Given the description of an element on the screen output the (x, y) to click on. 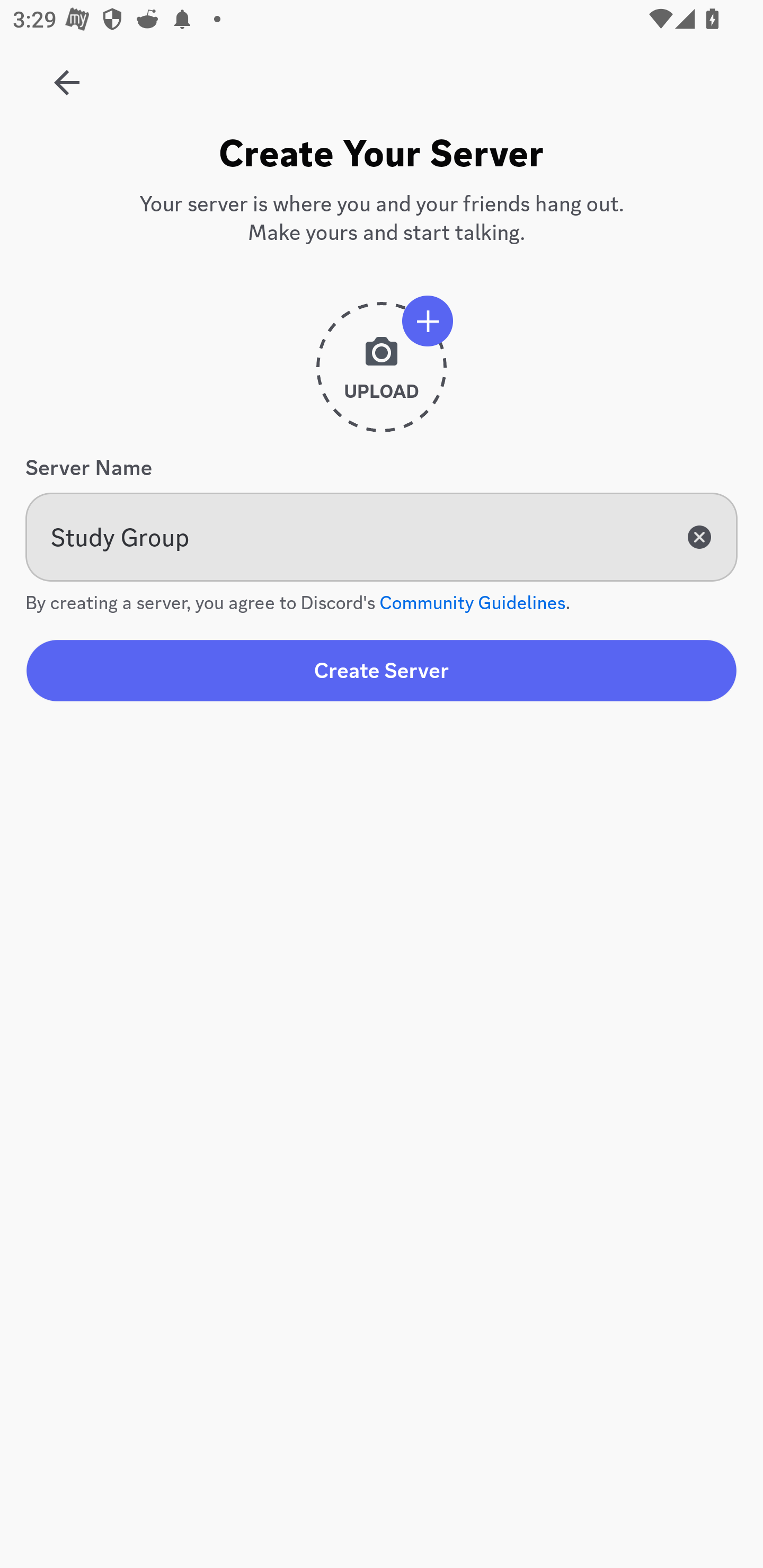
Add a Server (57, 75)
Upload Image UPLOAD (381, 373)
Study Group (381, 536)
Clear (698, 536)
Create Server (381, 670)
